Given the description of an element on the screen output the (x, y) to click on. 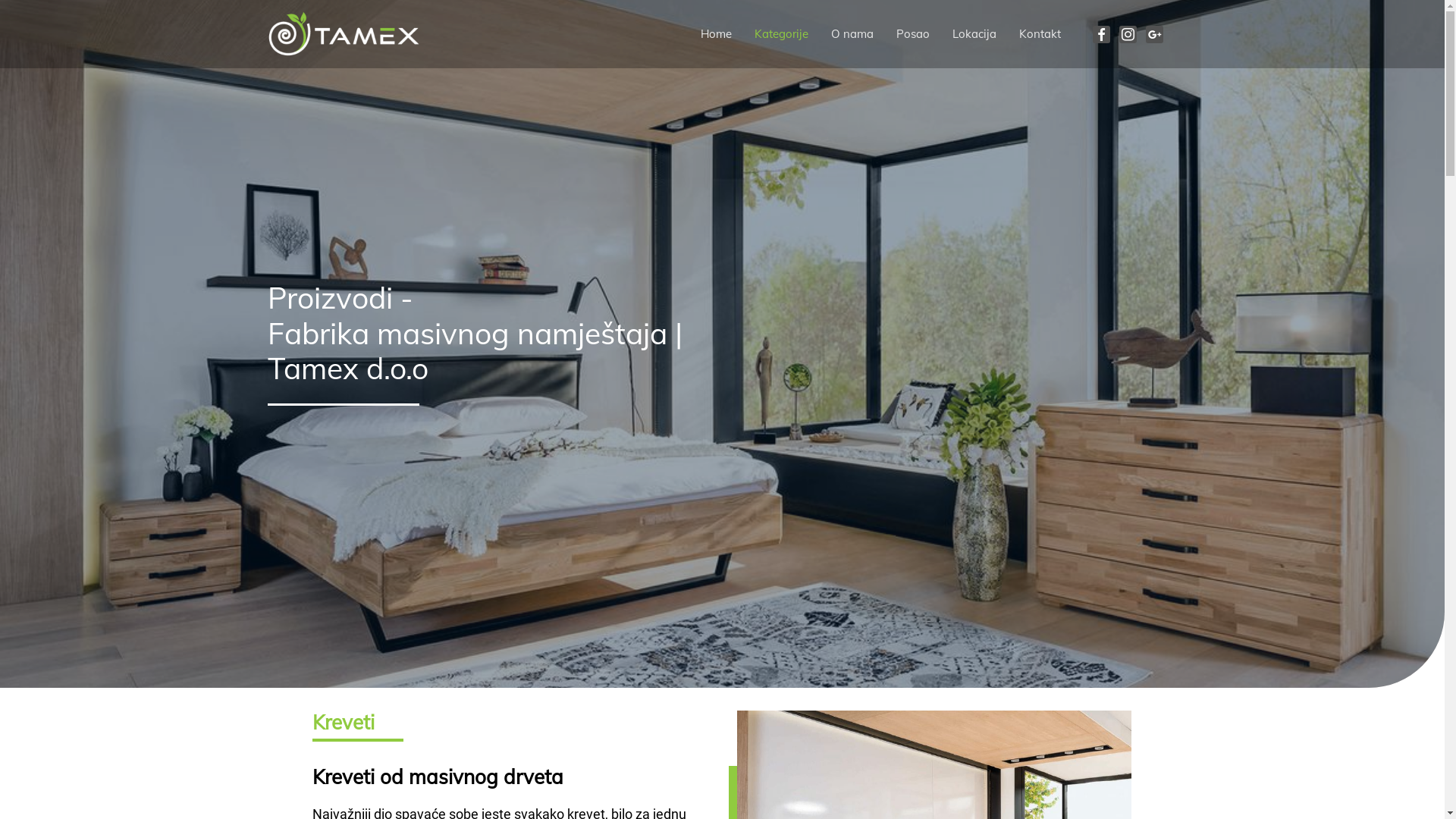
O nama Element type: text (851, 33)
Posao Element type: text (912, 33)
Home Element type: text (716, 33)
Lokacija Element type: text (974, 33)
Kontakt Element type: text (1039, 33)
Kategorije Element type: text (781, 33)
